Given the description of an element on the screen output the (x, y) to click on. 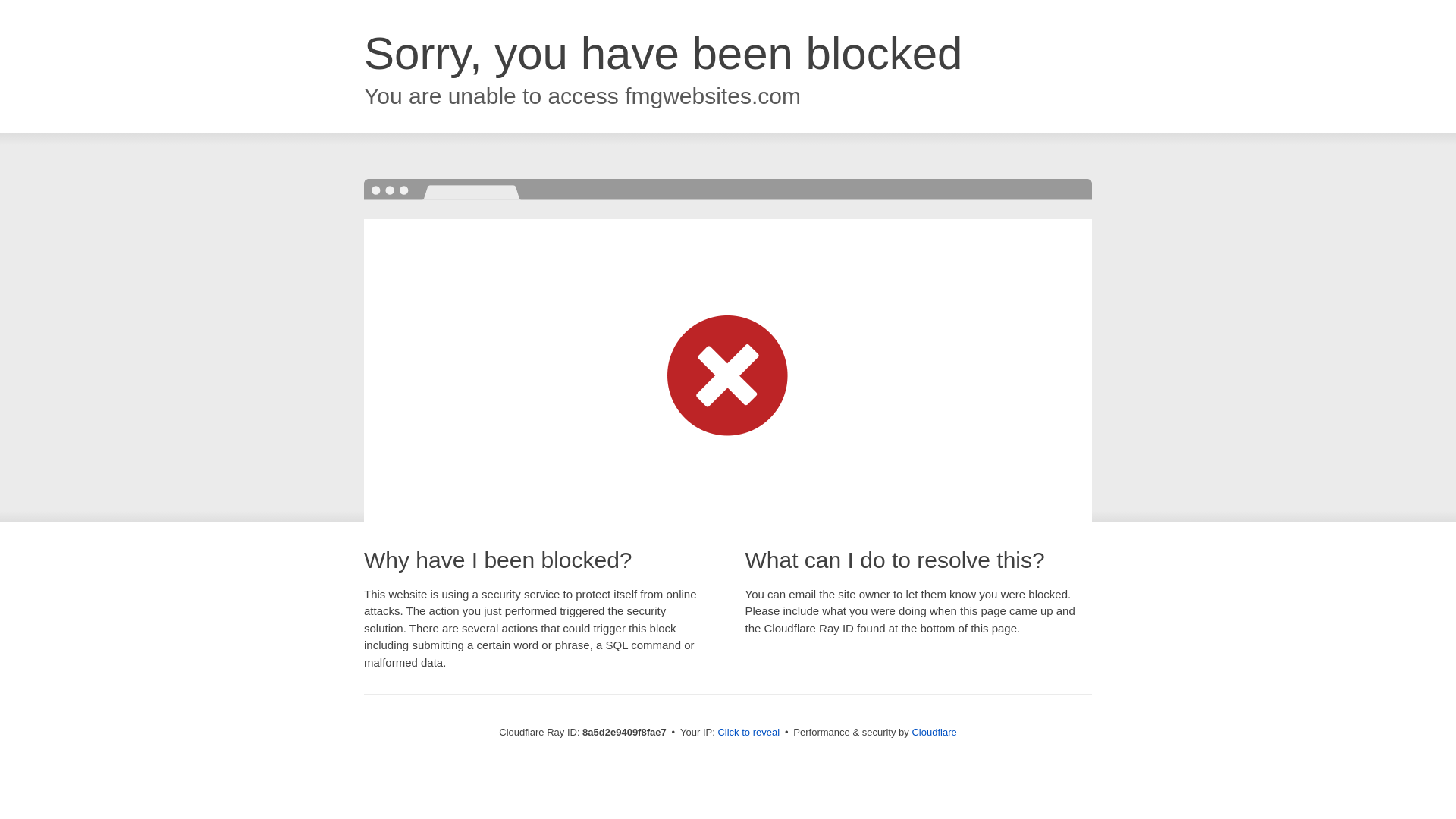
Click to reveal (747, 732)
Cloudflare (933, 731)
